Given the description of an element on the screen output the (x, y) to click on. 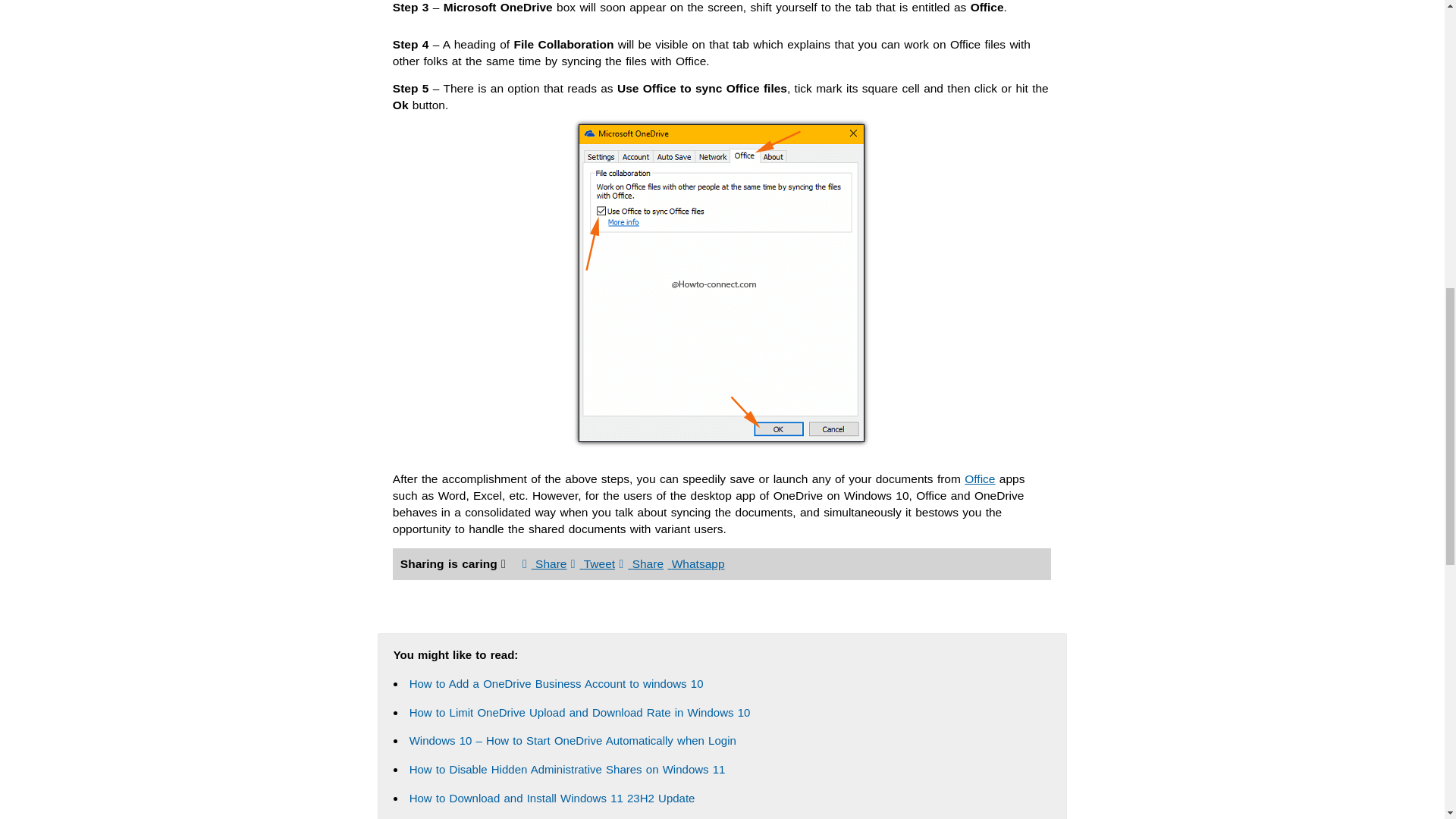
How to Download and Install Windows 11 23H2 Update (552, 797)
Tweet (592, 563)
How to Limit OneDrive Upload and Download Rate in Windows 10 (580, 712)
Office (978, 478)
Share (640, 563)
How to Add a OneDrive Business Account to windows 10 (556, 683)
Share (544, 563)
Whatsapp (694, 563)
How to Disable Hidden Administrative Shares on Windows 11 (567, 768)
